Given the description of an element on the screen output the (x, y) to click on. 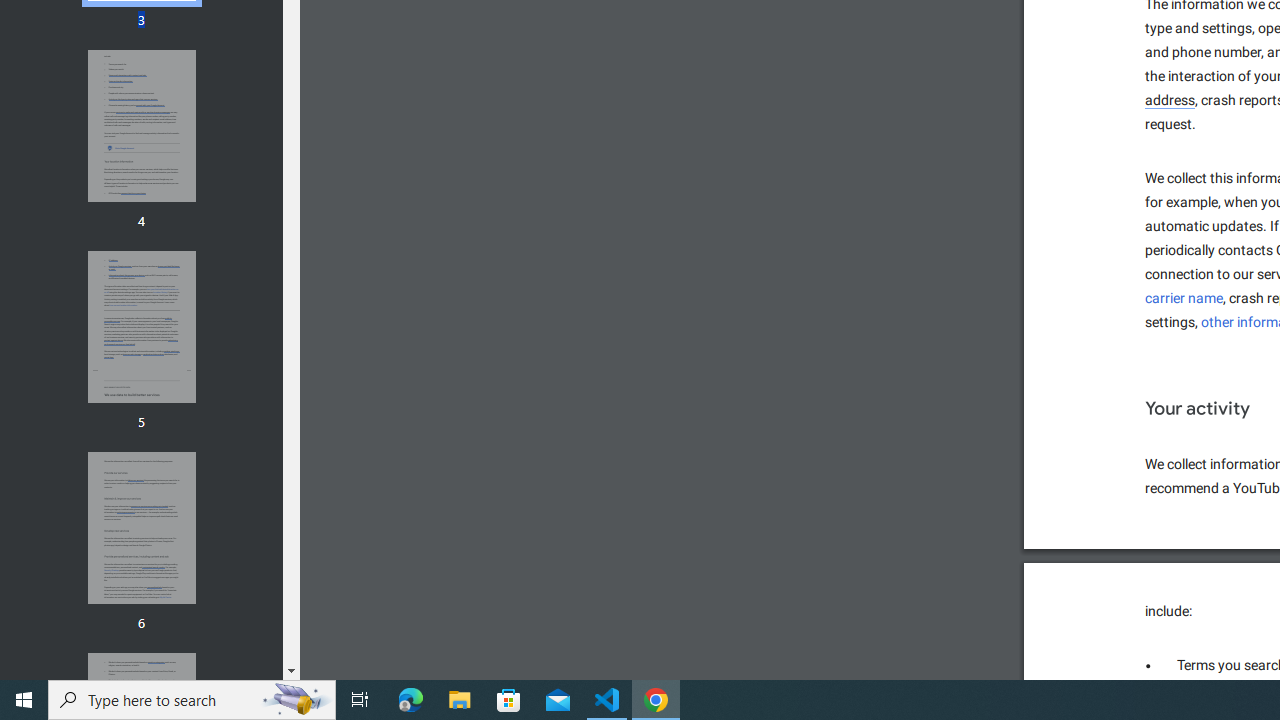
Thumbnail for page 6 (1170, 101)
Thumbnail for page 4 (141, 528)
AutomationID: thumbnail (1184, 298)
Thumbnail for page 5 (141, 125)
